Given the description of an element on the screen output the (x, y) to click on. 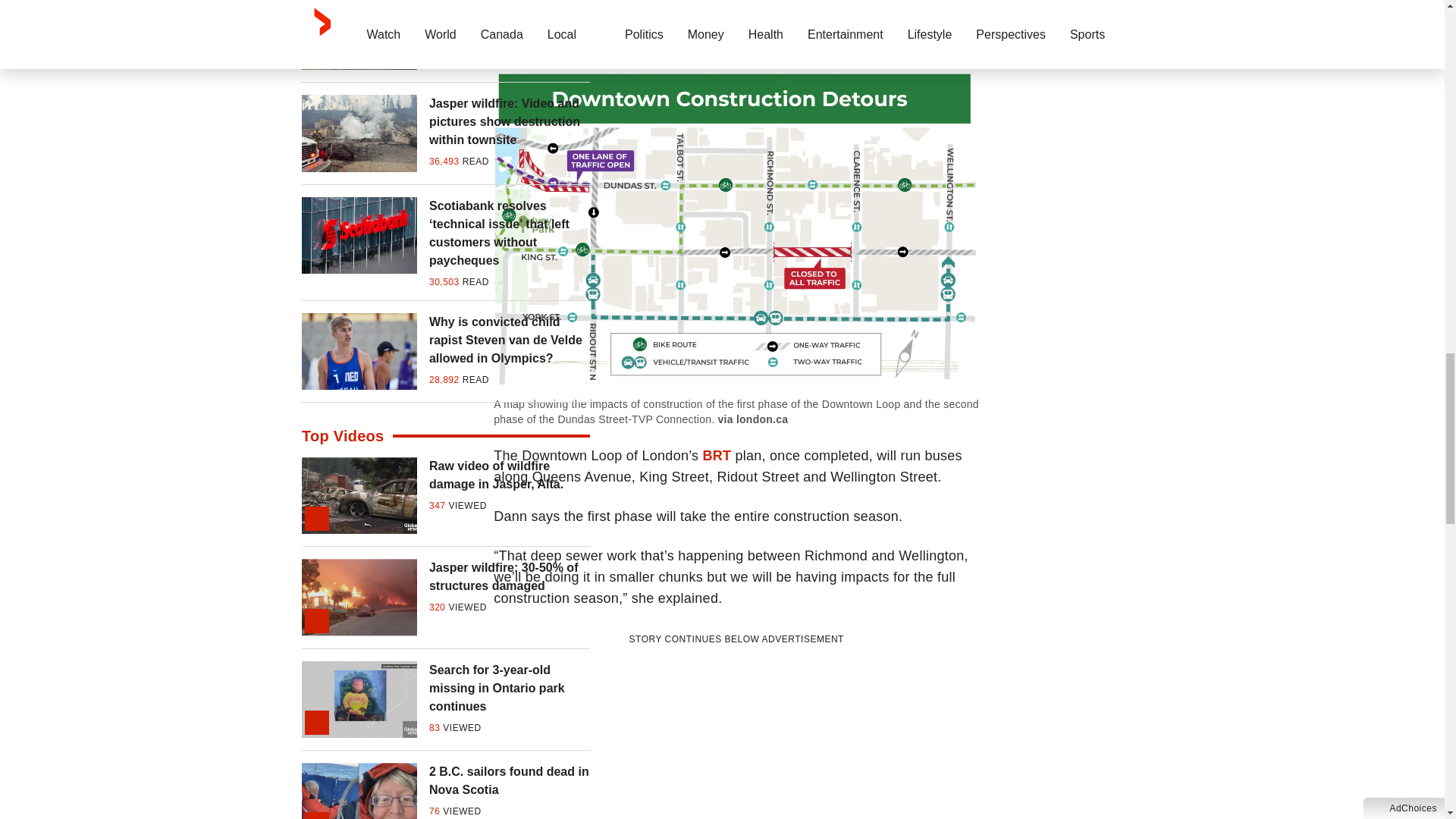
Raw video of wildfire damage in Jasper, Alta. (509, 475)
